Given the description of an element on the screen output the (x, y) to click on. 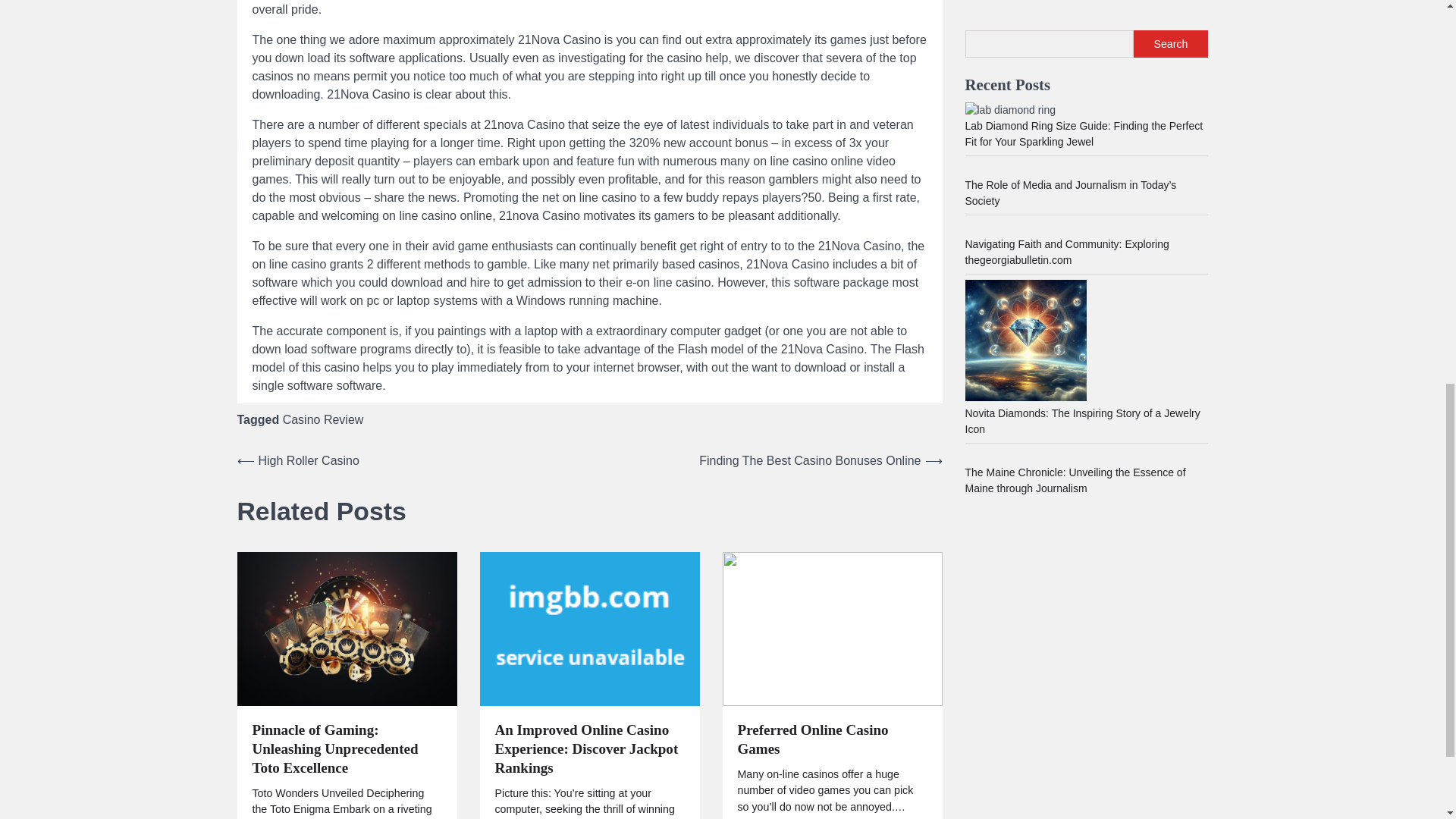
Preferred Online Casino Games (831, 740)
Casino Review (323, 419)
Jackpot Rankings (588, 628)
Pinnacle of Gaming: Unleashing Unprecedented Toto Excellence (346, 749)
